Given the description of an element on the screen output the (x, y) to click on. 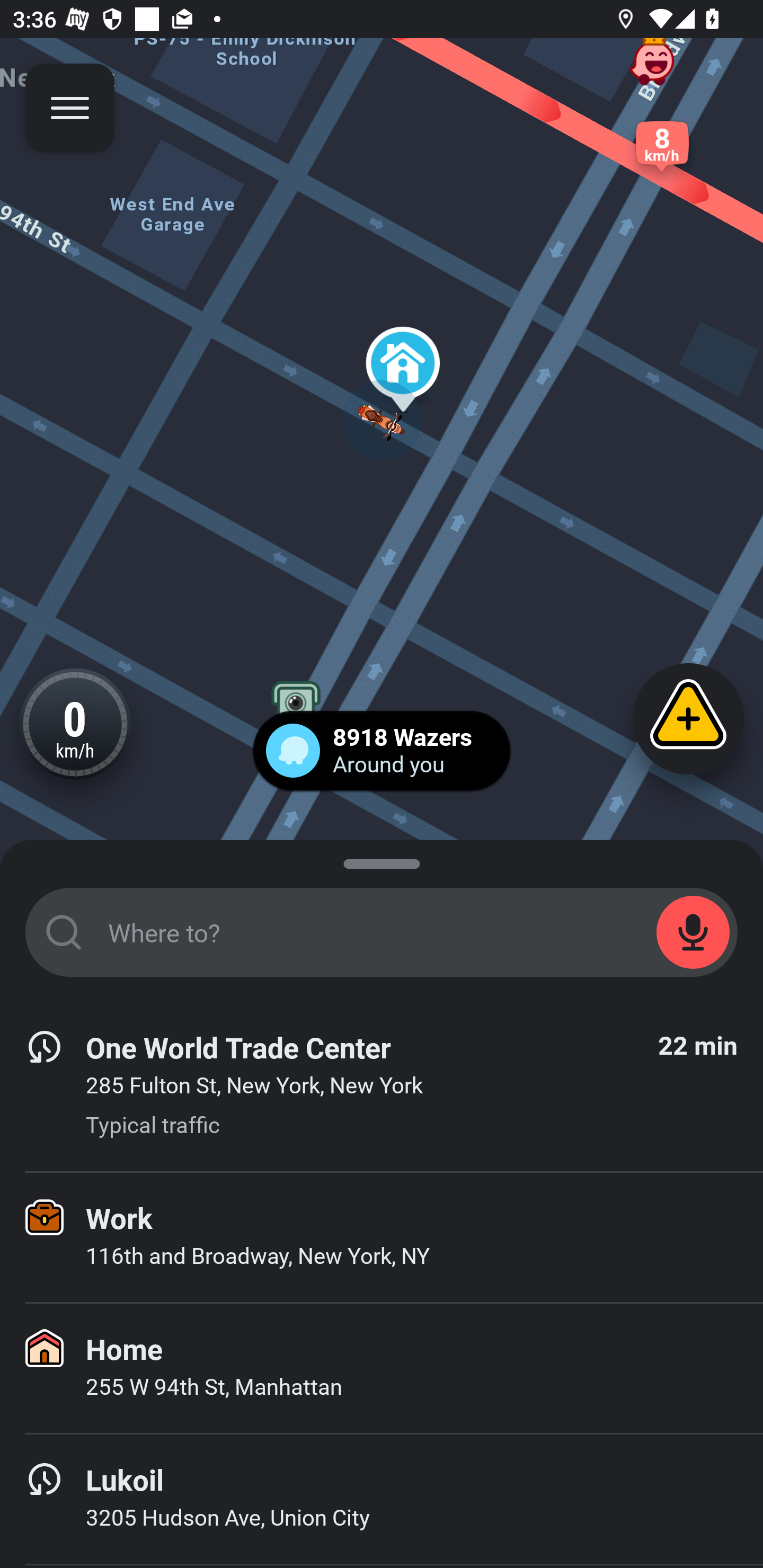
SUGGESTIONS_SHEET_DRAG_HANDLE (381, 860)
START_STATE_SEARCH_FIELD Where to? (381, 931)
Work 116th and Broadway, New York, NY (381, 1236)
Home 255 W 94th St, Manhattan (381, 1368)
Lukoil 3205 Hudson Ave, Union City (381, 1498)
